Given the description of an element on the screen output the (x, y) to click on. 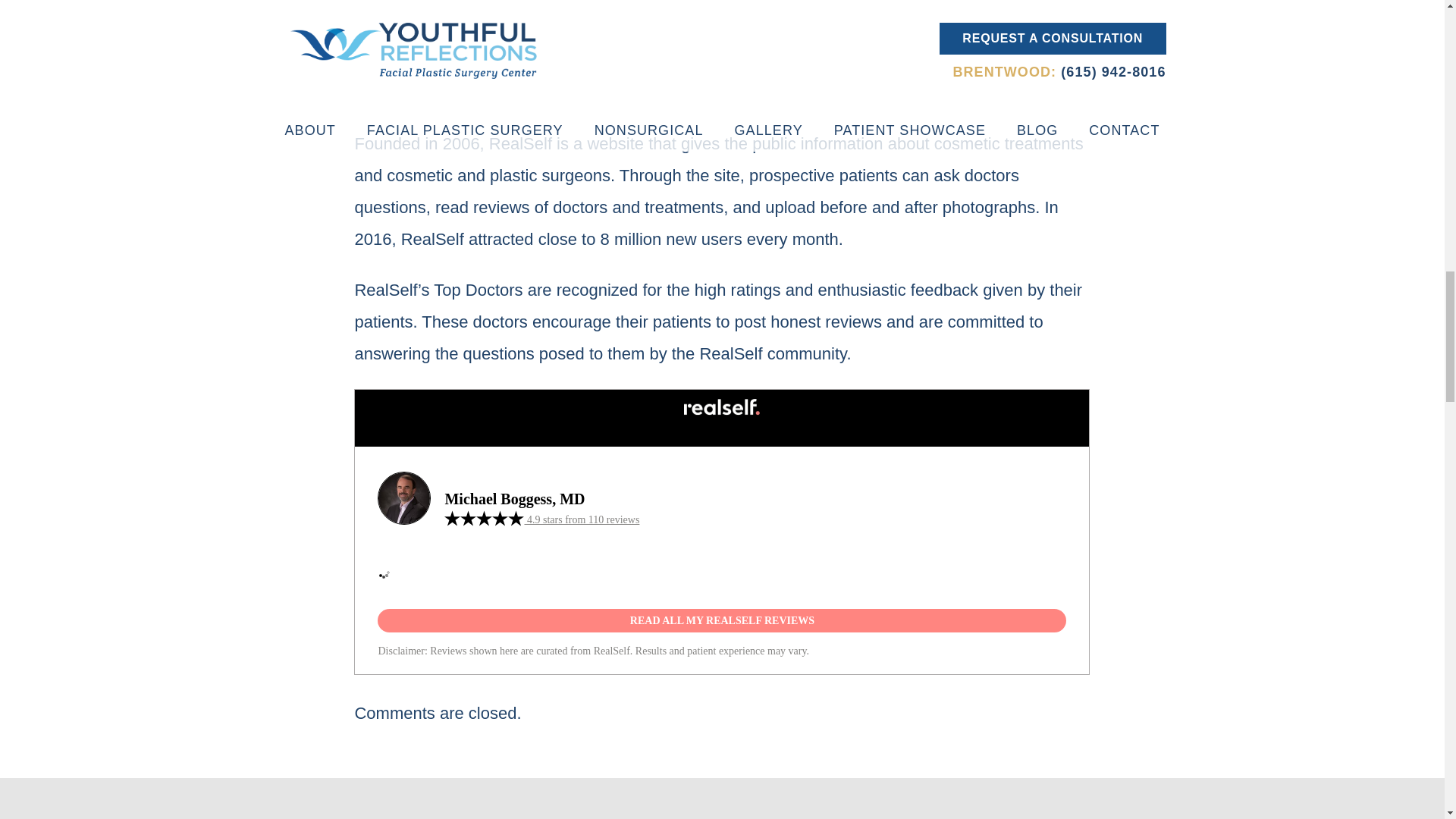
READ ALL MY REALSELF REVIEWS (721, 620)
RealSelf Patient Reviews of Michael Boggess, MD (539, 386)
Michael Boggess, MD (514, 497)
4.9 stars from 110 reviews (541, 519)
